Given the description of an element on the screen output the (x, y) to click on. 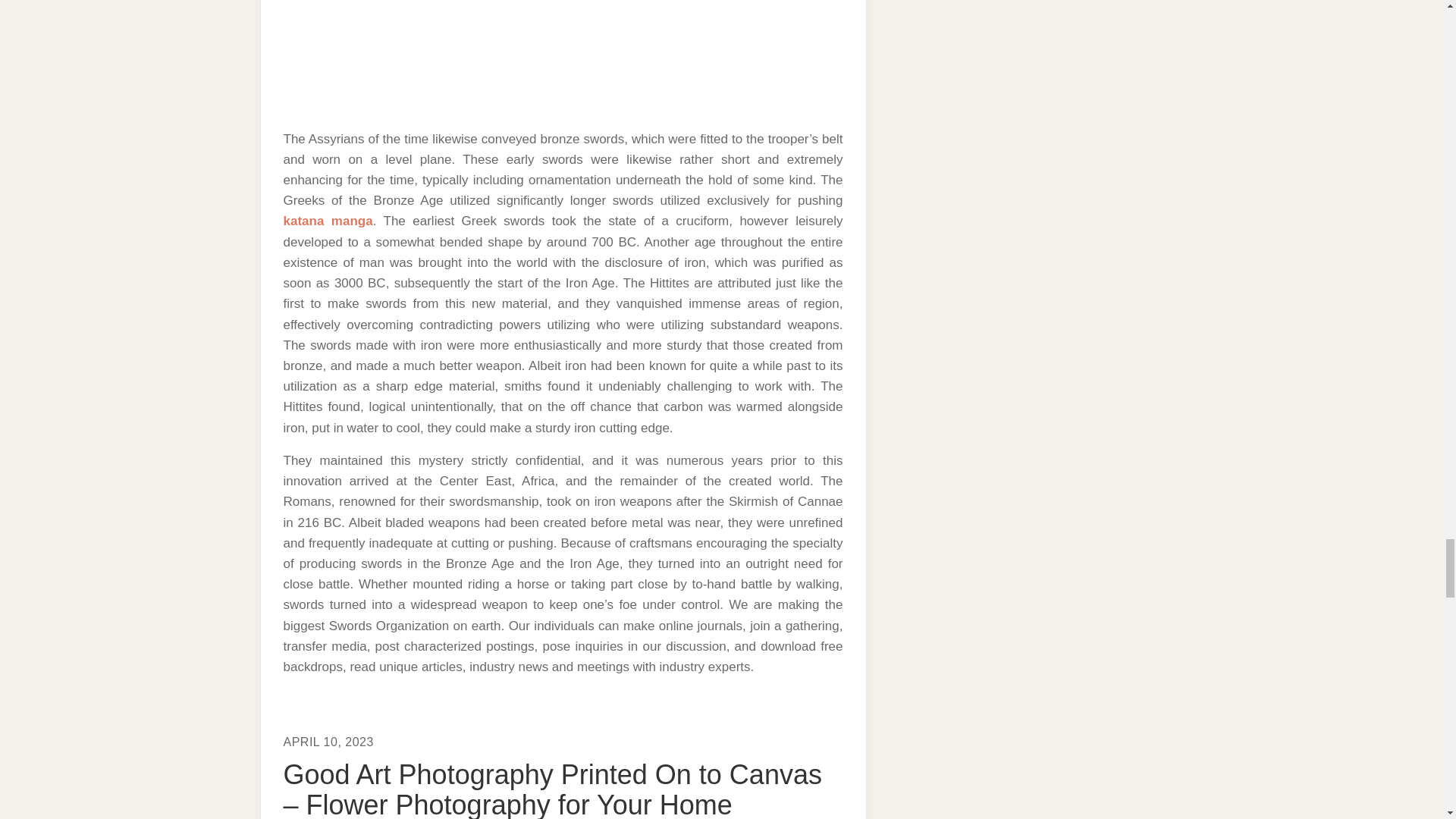
APRIL 10, 2023 (328, 741)
katana manga (327, 220)
